Given the description of an element on the screen output the (x, y) to click on. 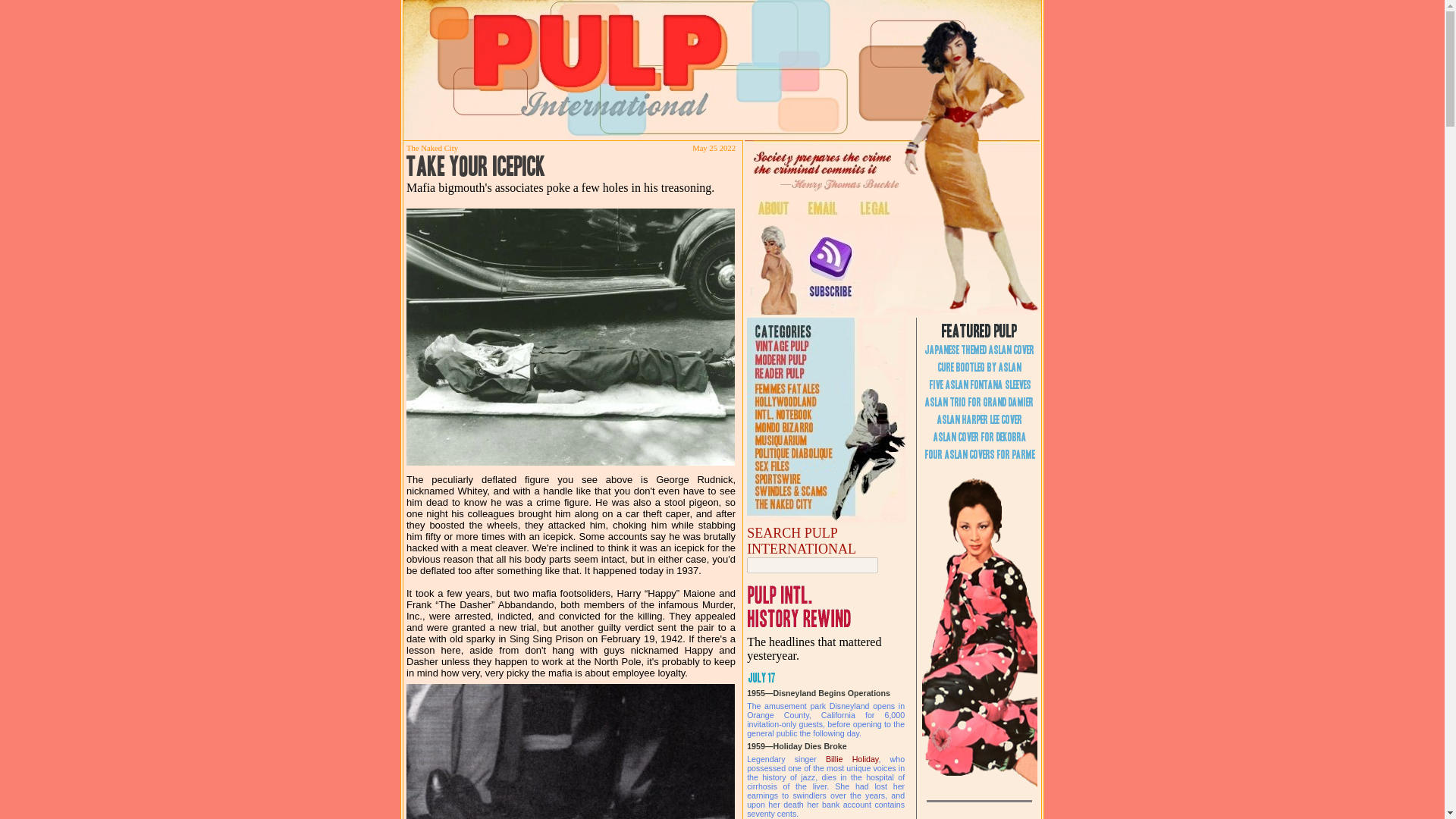
Billie Holiday (851, 758)
The Naked City (432, 148)
